Given the description of an element on the screen output the (x, y) to click on. 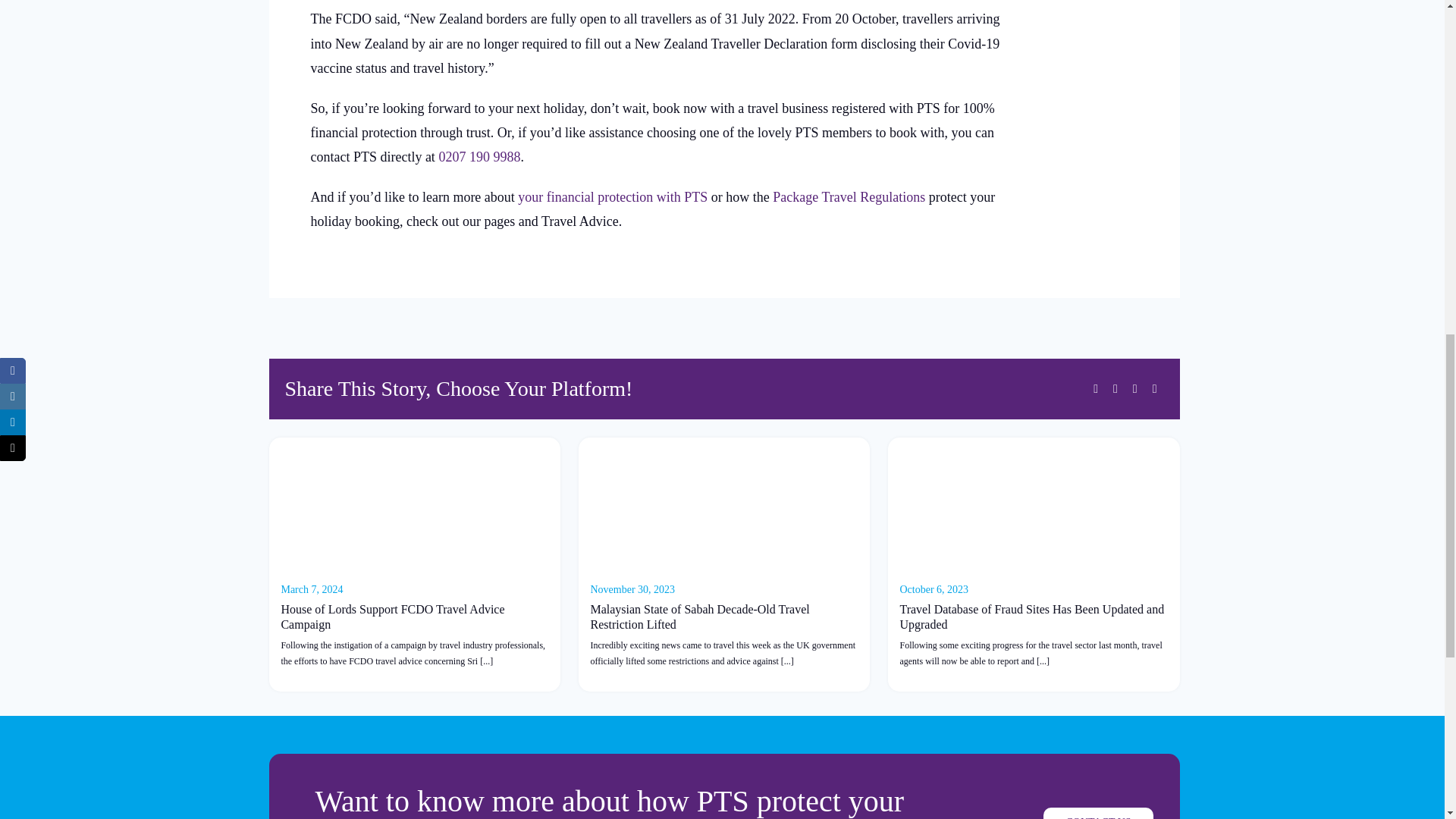
Facebook (1095, 388)
LinkedIn (1134, 388)
fcdo-travel-advice (414, 505)
fraud-sites (1033, 505)
Email (1154, 388)
0207 190 9988 (478, 156)
X (1115, 388)
state-of-sabah (723, 505)
